Given the description of an element on the screen output the (x, y) to click on. 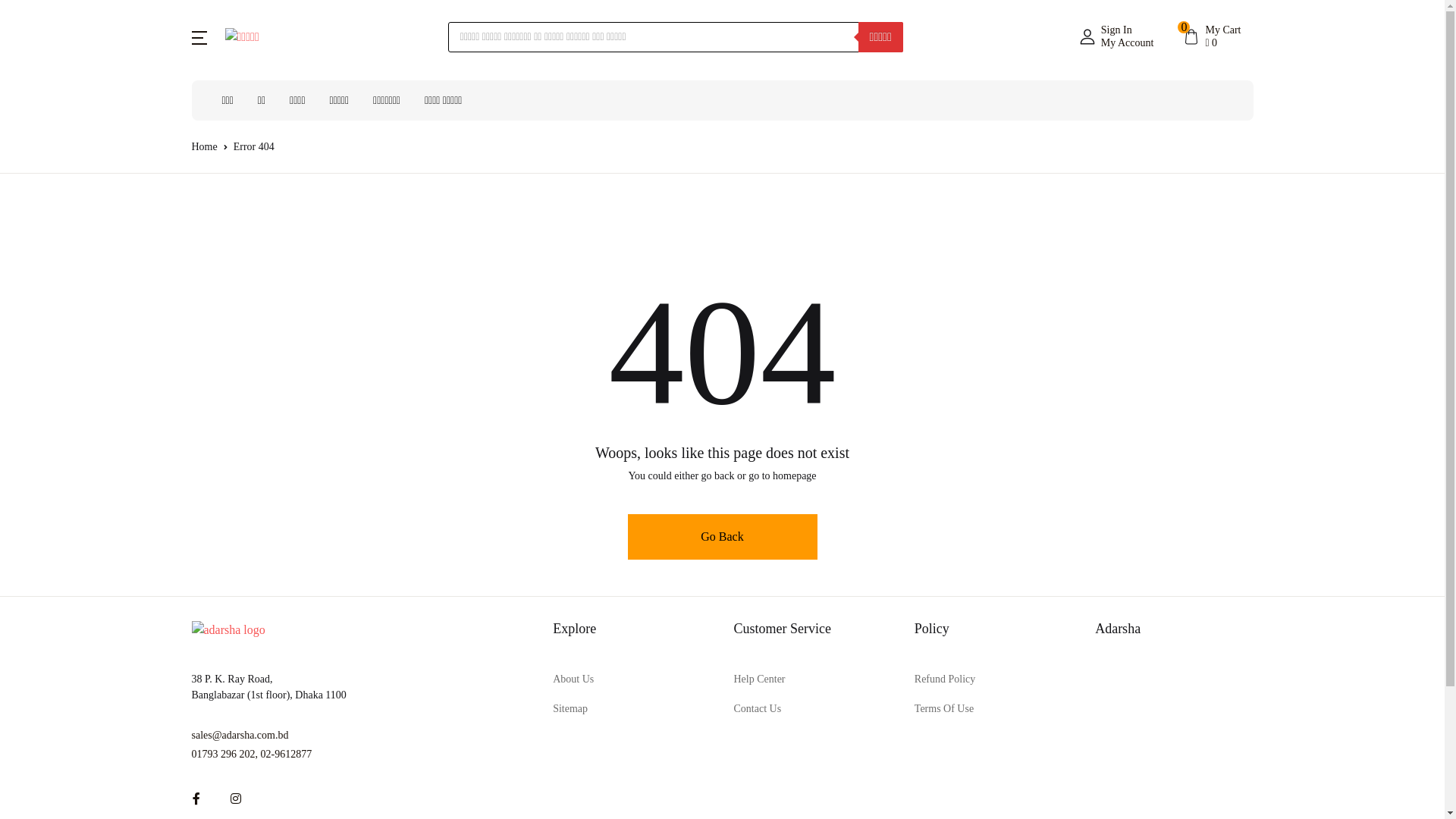
Home Element type: text (203, 146)
Sign In Element type: text (1254, 302)
Sign In
My Account Element type: text (1116, 37)
Terms Of Use Element type: text (943, 708)
Instagram Element type: text (235, 798)
Contact Us Element type: text (757, 708)
About Us Element type: text (572, 678)
Facebook Element type: text (196, 798)
Go Back Element type: text (722, 536)
sales@adarsha.com.bd Element type: text (360, 735)
Refund Policy Element type: text (944, 678)
Help Center Element type: text (758, 678)
01793 296 202, 02-9612877 Element type: text (360, 754)
Sitemap Element type: text (569, 708)
